Given the description of an element on the screen output the (x, y) to click on. 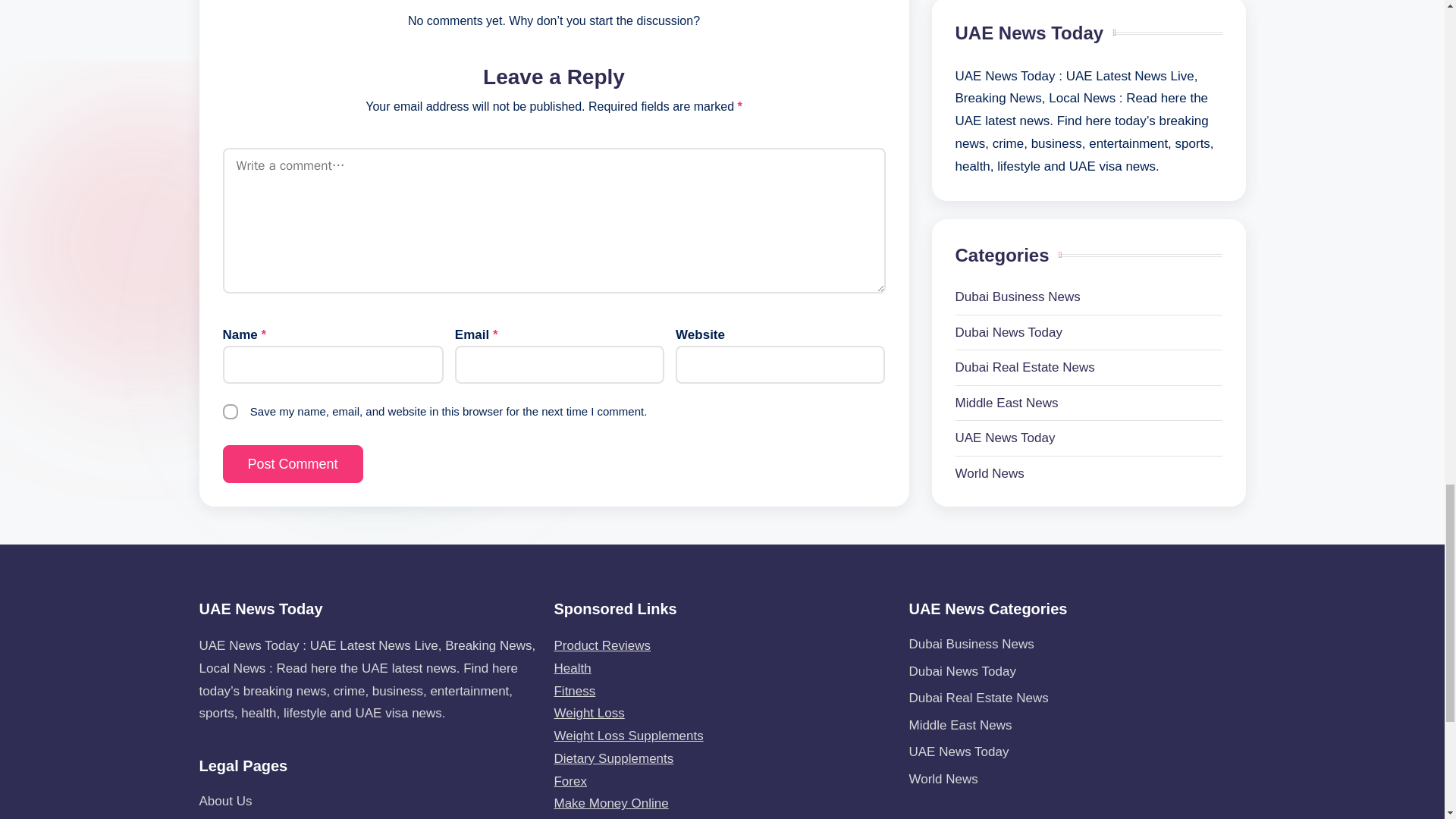
Post Comment (292, 464)
yes (230, 411)
Post Comment (292, 464)
